Given the description of an element on the screen output the (x, y) to click on. 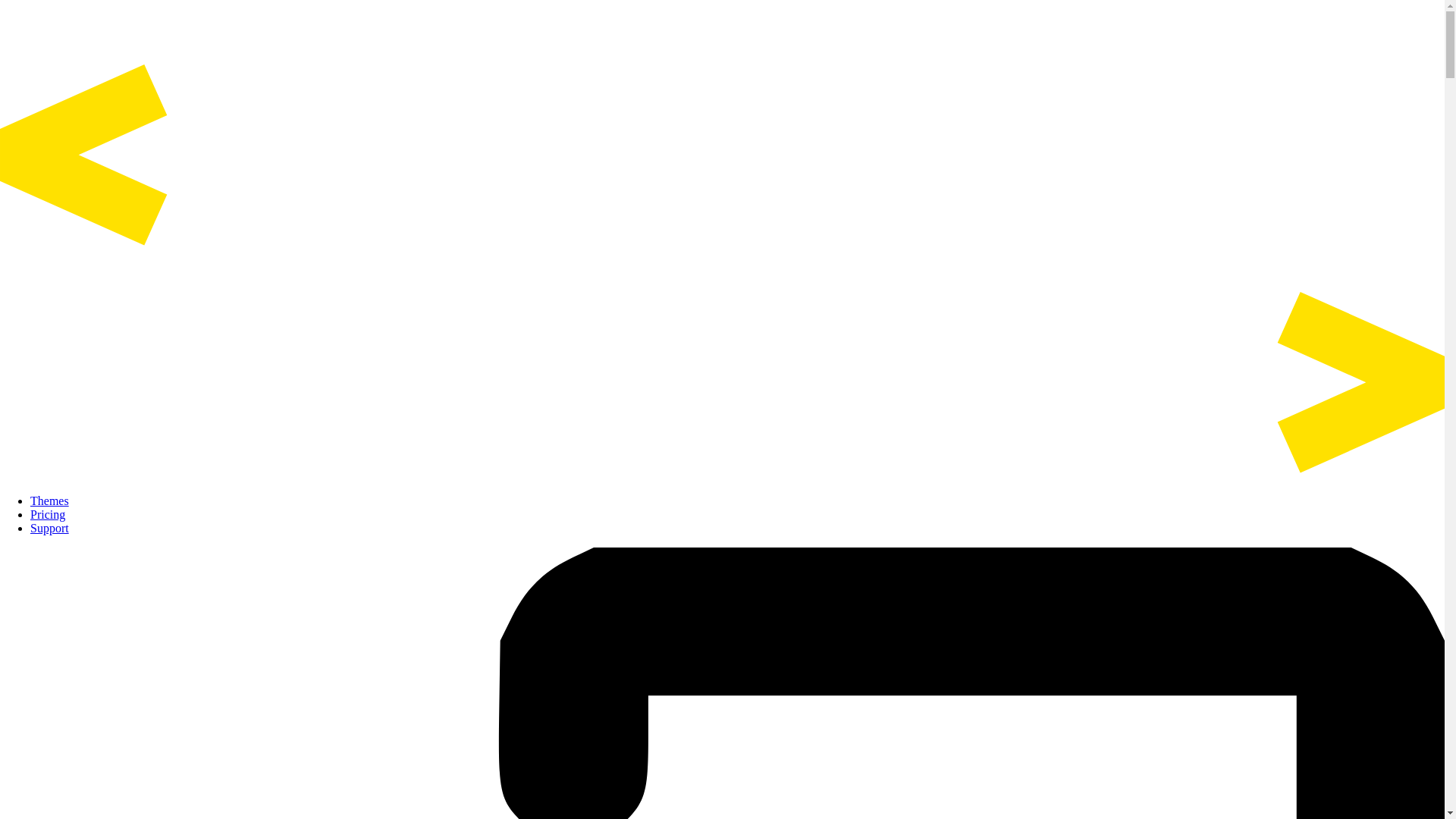
Support (49, 527)
Themes (49, 500)
Pricing (47, 513)
